Given the description of an element on the screen output the (x, y) to click on. 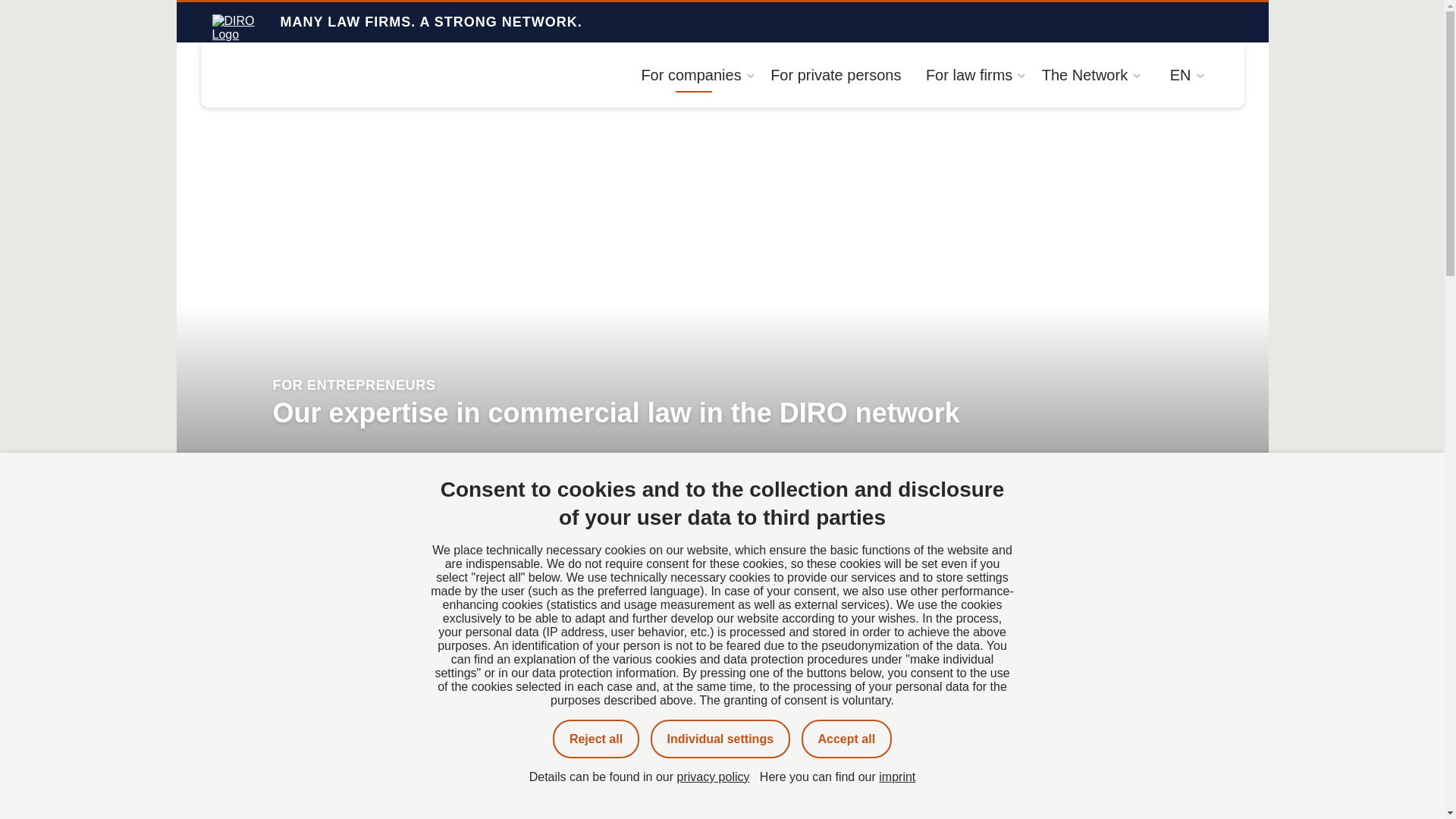
For private persons (835, 74)
For law firms (971, 74)
The Network (1086, 74)
For companies (692, 74)
here (748, 816)
